Given the description of an element on the screen output the (x, y) to click on. 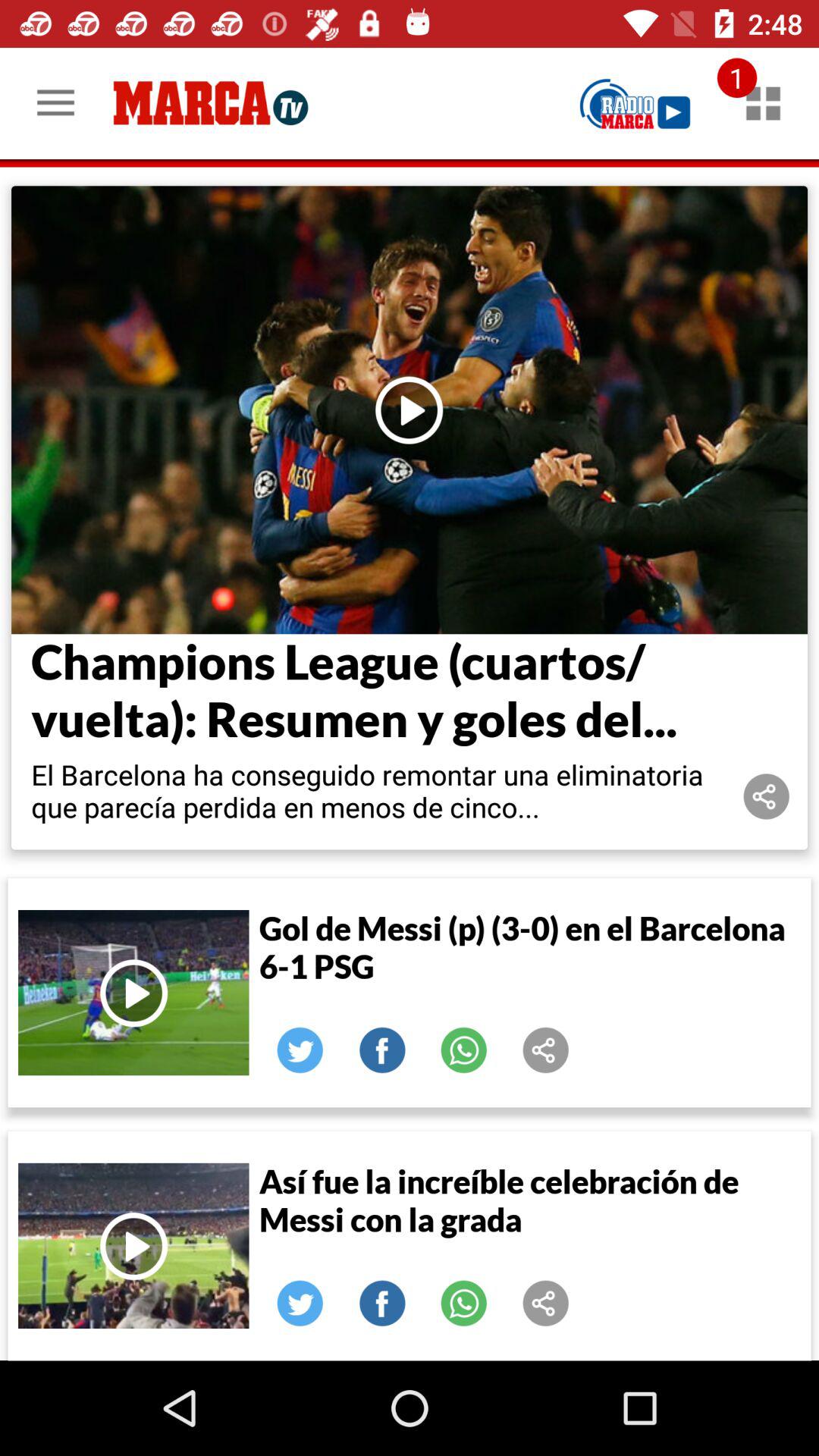
share to facebook (382, 1303)
